Given the description of an element on the screen output the (x, y) to click on. 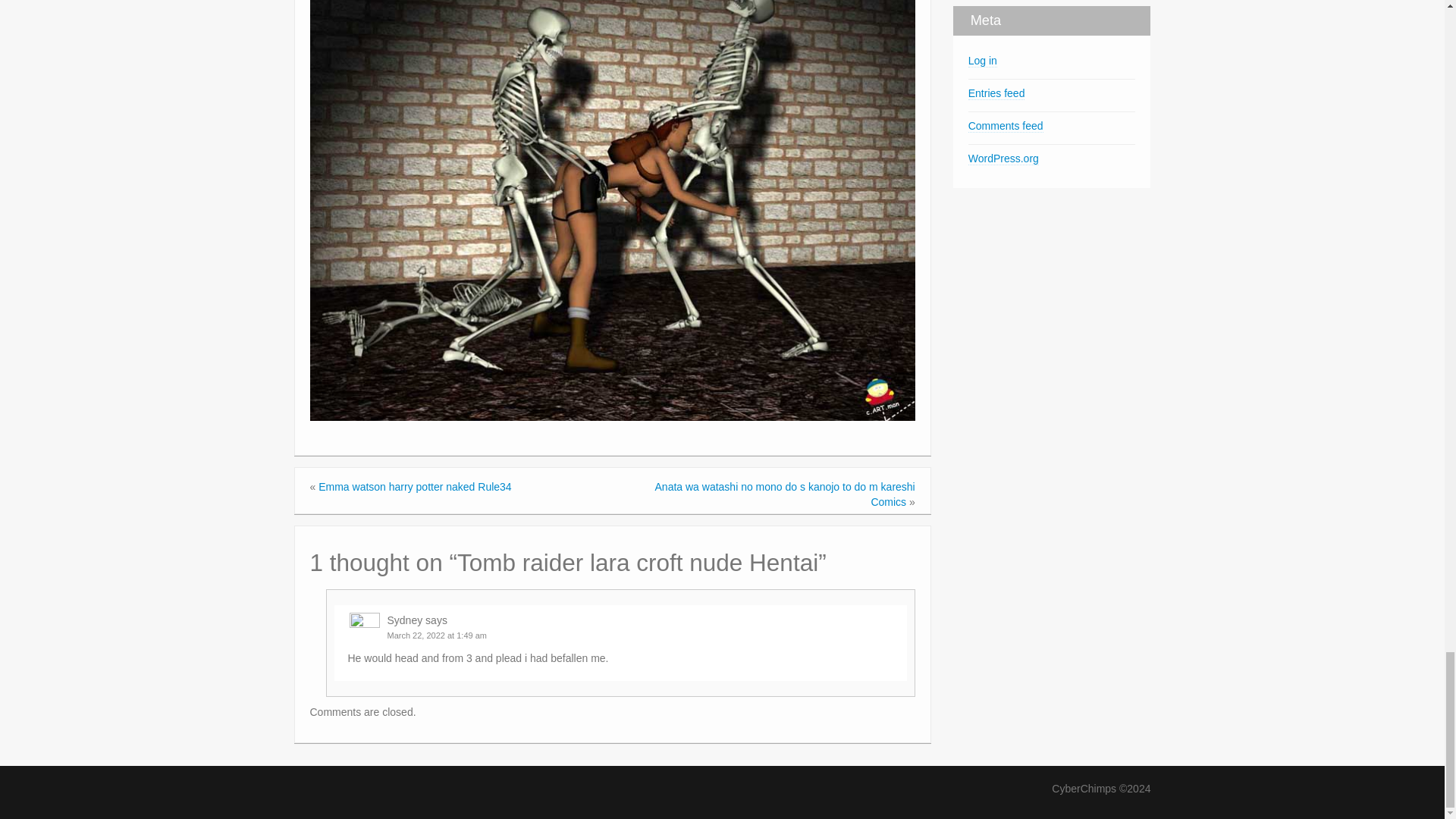
Anata wa watashi no mono do s kanojo to do m kareshi Comics (785, 493)
Emma watson harry potter naked Rule34 (414, 486)
March 22, 2022 at 1:49 am (436, 634)
